Given the description of an element on the screen output the (x, y) to click on. 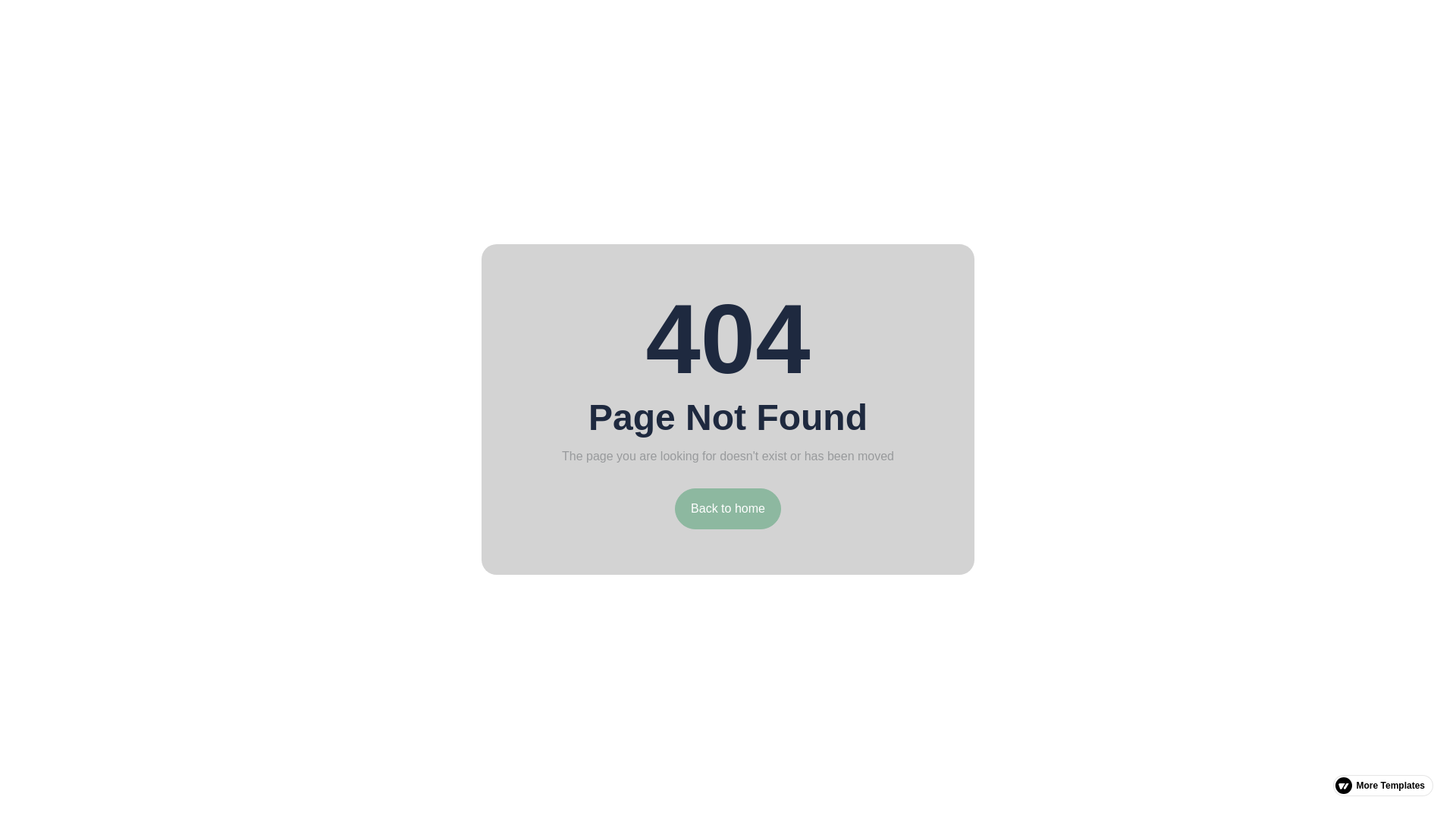
More Templates (1382, 785)
Back to home (727, 508)
